Given the description of an element on the screen output the (x, y) to click on. 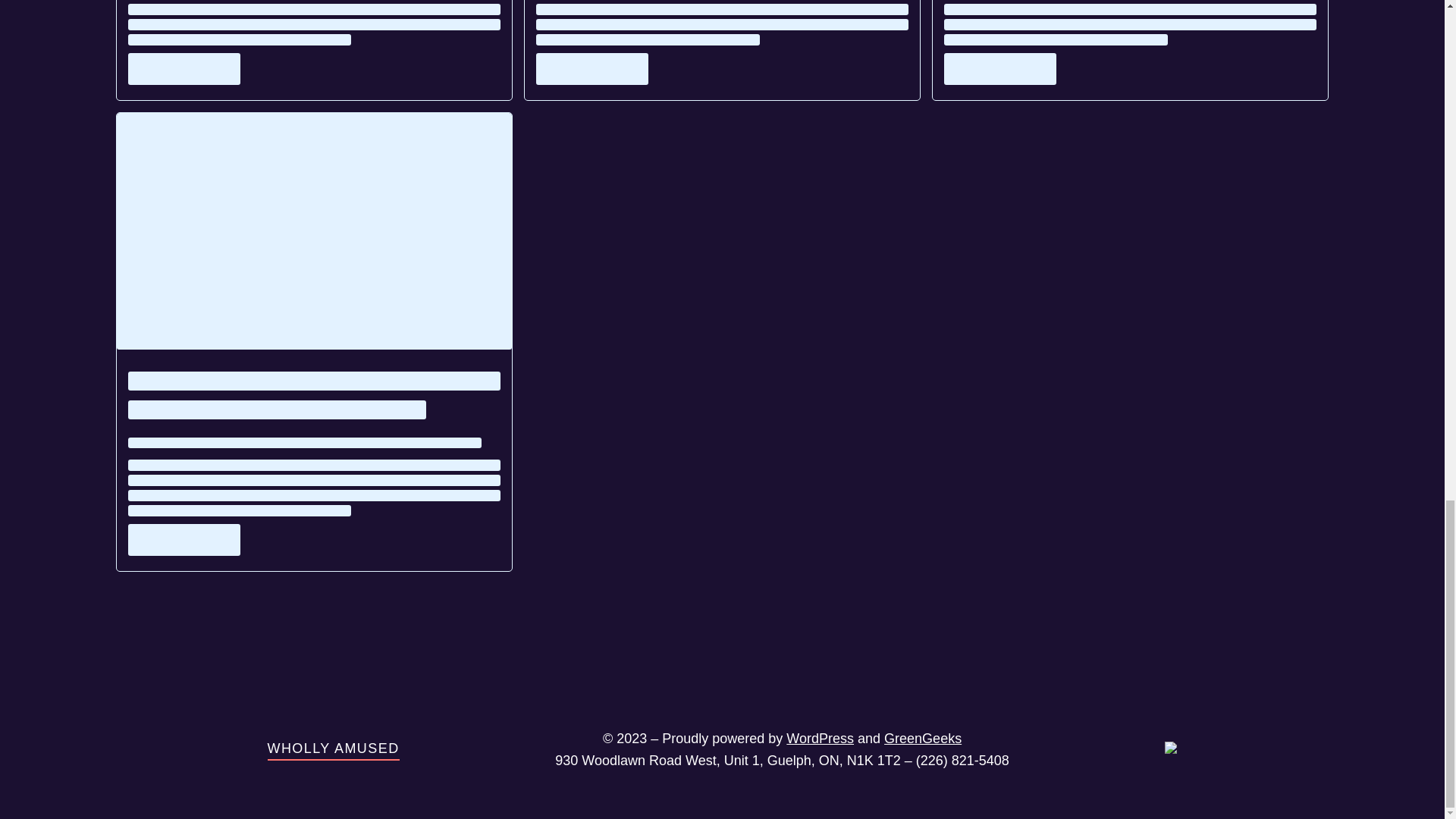
GreenGeeks (921, 738)
WordPress (819, 738)
WHOLLY AMUSED (332, 748)
